Given the description of an element on the screen output the (x, y) to click on. 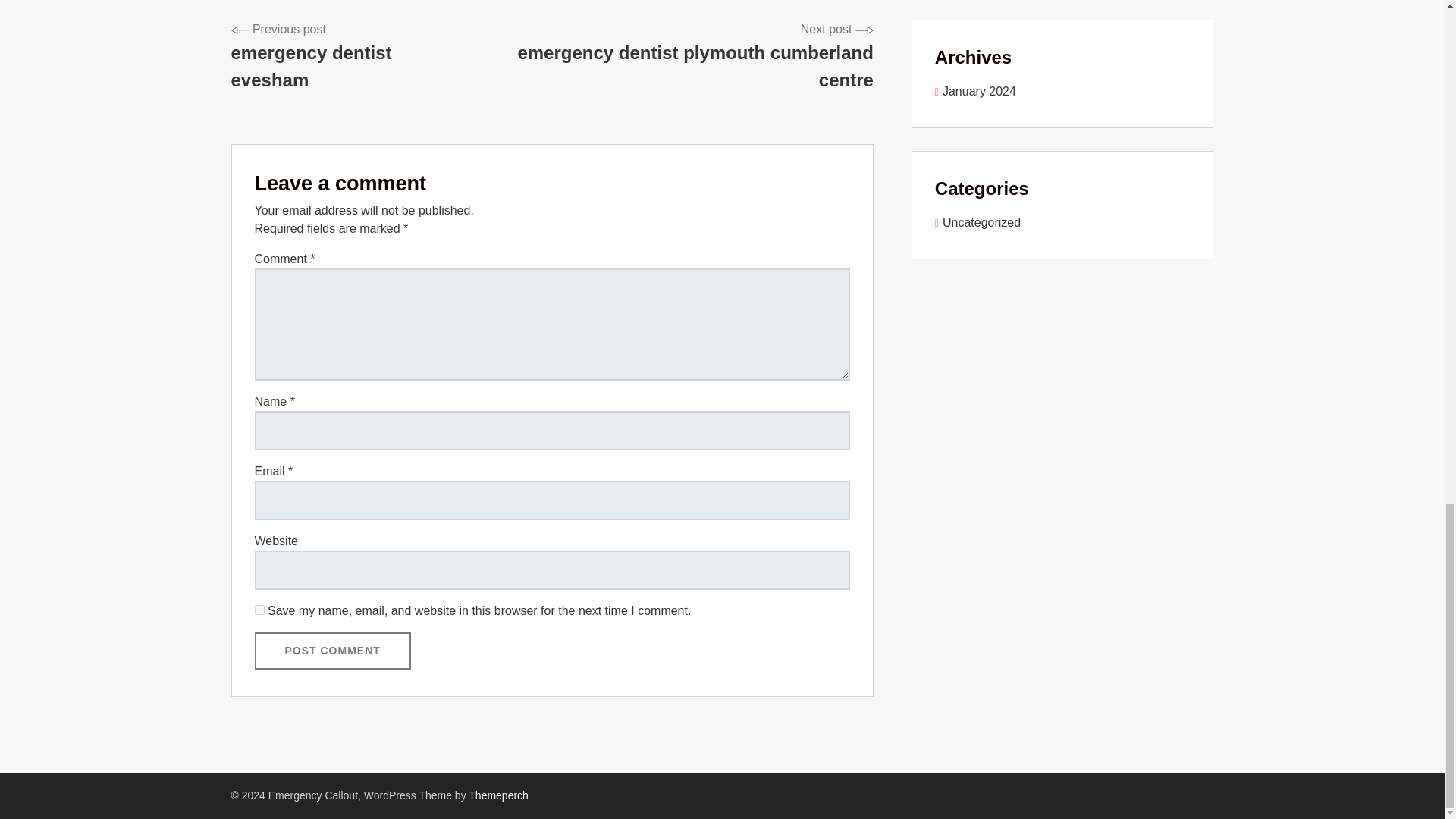
Themeperch (498, 795)
yes (259, 610)
Uncategorized (977, 222)
Post Comment (332, 650)
January 2024 (975, 91)
Post Comment (673, 57)
